Given the description of an element on the screen output the (x, y) to click on. 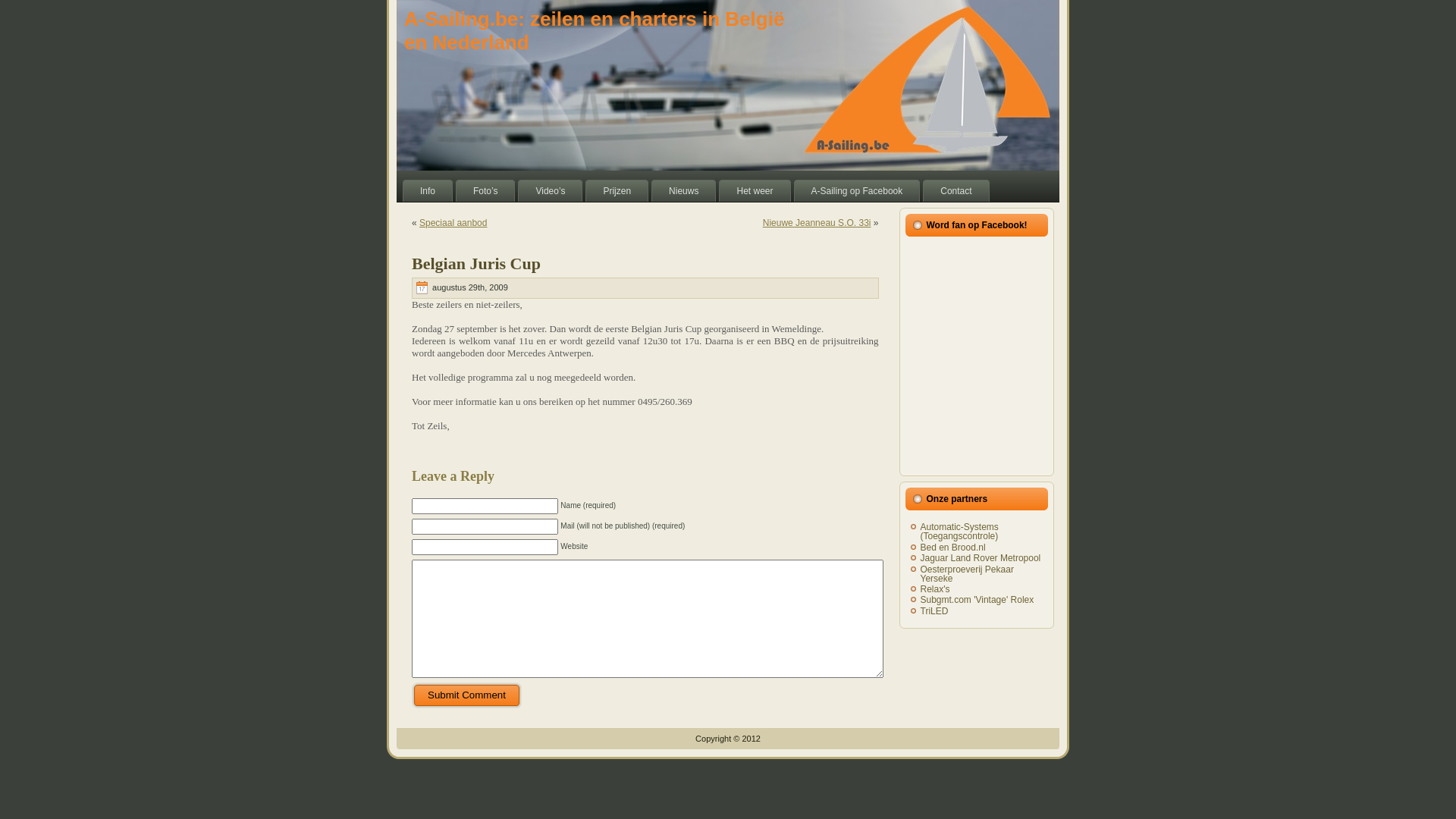
Jaguar Land Rover Metropool Element type: text (980, 557)
Belgian Juris Cup Element type: text (475, 263)
Oesterproeverij Pekaar Yerseke Element type: text (966, 573)
Relax's Element type: text (935, 588)
TriLED Element type: text (934, 610)
Contact Element type: text (955, 190)
Automatic-Systems (Toegangscontrole) Element type: text (959, 531)
Subgmt.com 'Vintage' Rolex Element type: text (977, 599)
Info Element type: text (427, 190)
Het weer Element type: text (754, 190)
Nieuwe Jeanneau S.O. 33i Element type: text (816, 222)
Speciaal aanbod Element type: text (452, 222)
A-Sailing op Facebook Element type: text (856, 190)
Submit Comment Element type: text (466, 695)
Bed en Brood.nl Element type: text (952, 547)
Nieuws Element type: text (683, 190)
Prijzen Element type: text (616, 190)
